Given the description of an element on the screen output the (x, y) to click on. 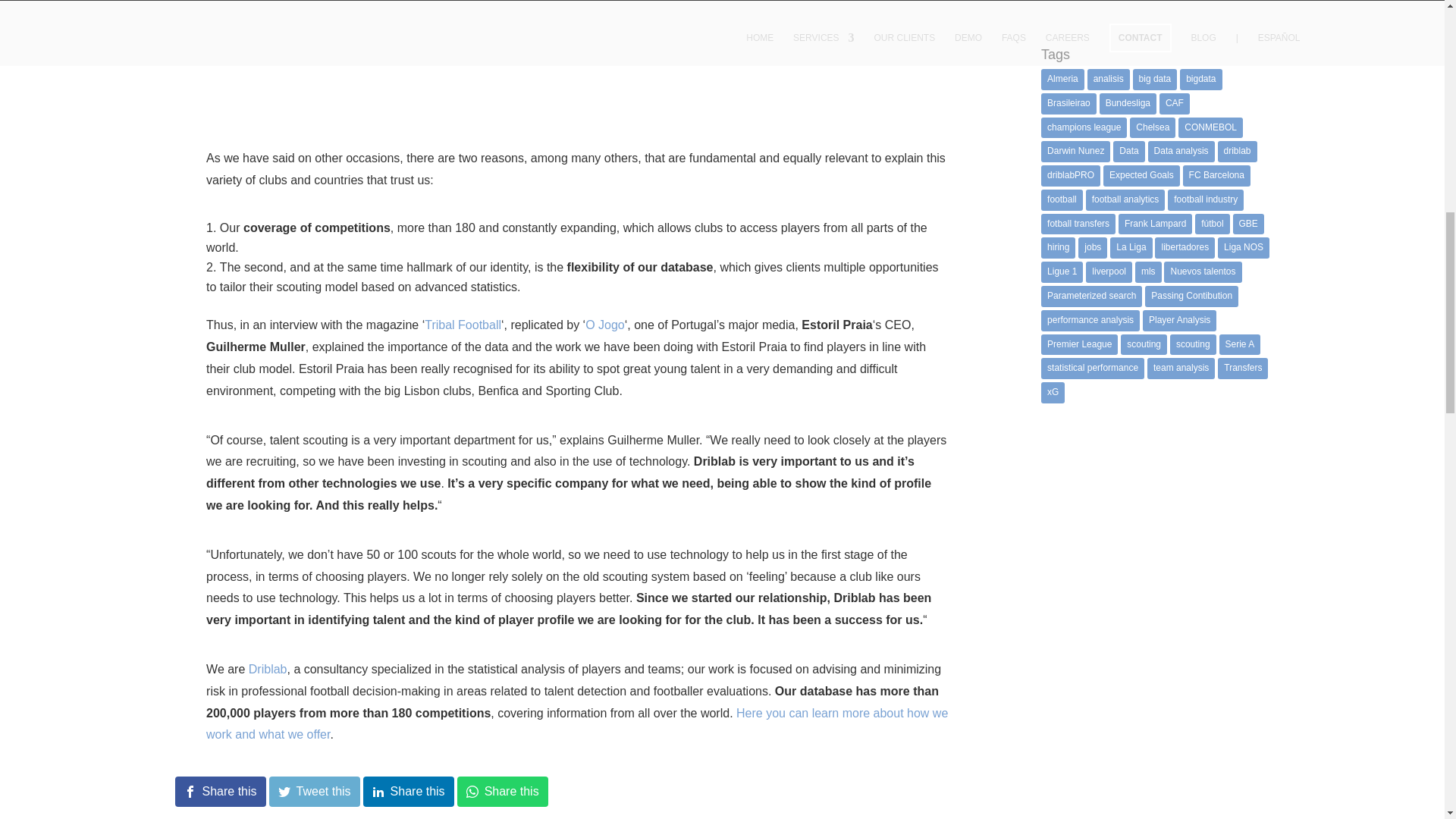
Share this (502, 791)
Here you can learn more about how we work and what we offer (576, 724)
Share this (219, 791)
Tweet this (314, 791)
Tribal Football (462, 324)
O Jogo (604, 324)
Share this (408, 791)
Driblab (267, 668)
